Given the description of an element on the screen output the (x, y) to click on. 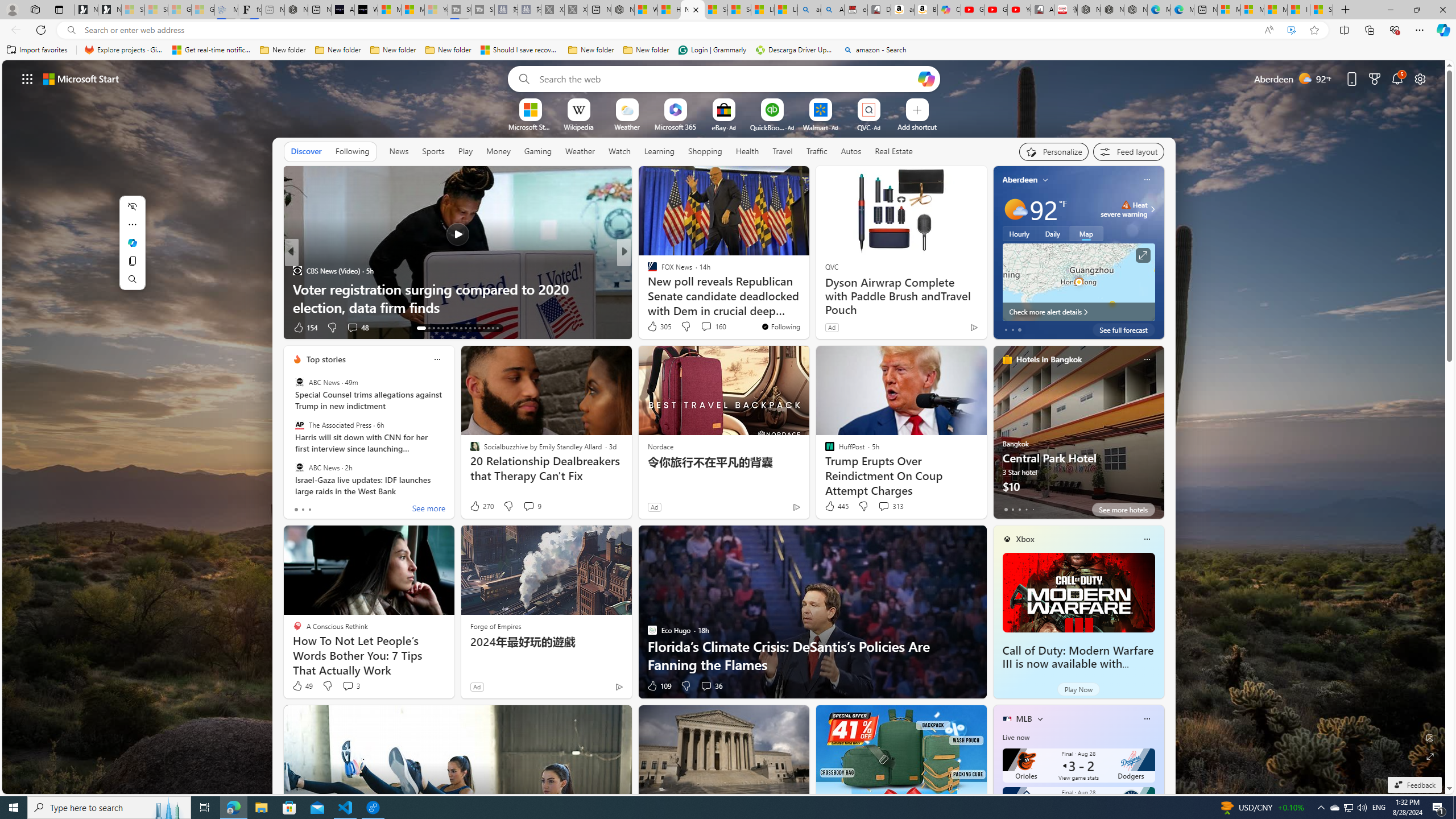
Nordace.com (663, 288)
View comments 313 Comment (883, 505)
Mostly sunny (1014, 208)
Real Estate (893, 151)
Nordace Comino Totepack (1089, 9)
View comments 5 Comment (698, 327)
AutomationID: backgroundImagePicture (723, 426)
Settings and more (Alt+F) (1419, 29)
94 Like (652, 327)
Like (648, 327)
109 Like (658, 685)
Weather (579, 151)
